Given the description of an element on the screen output the (x, y) to click on. 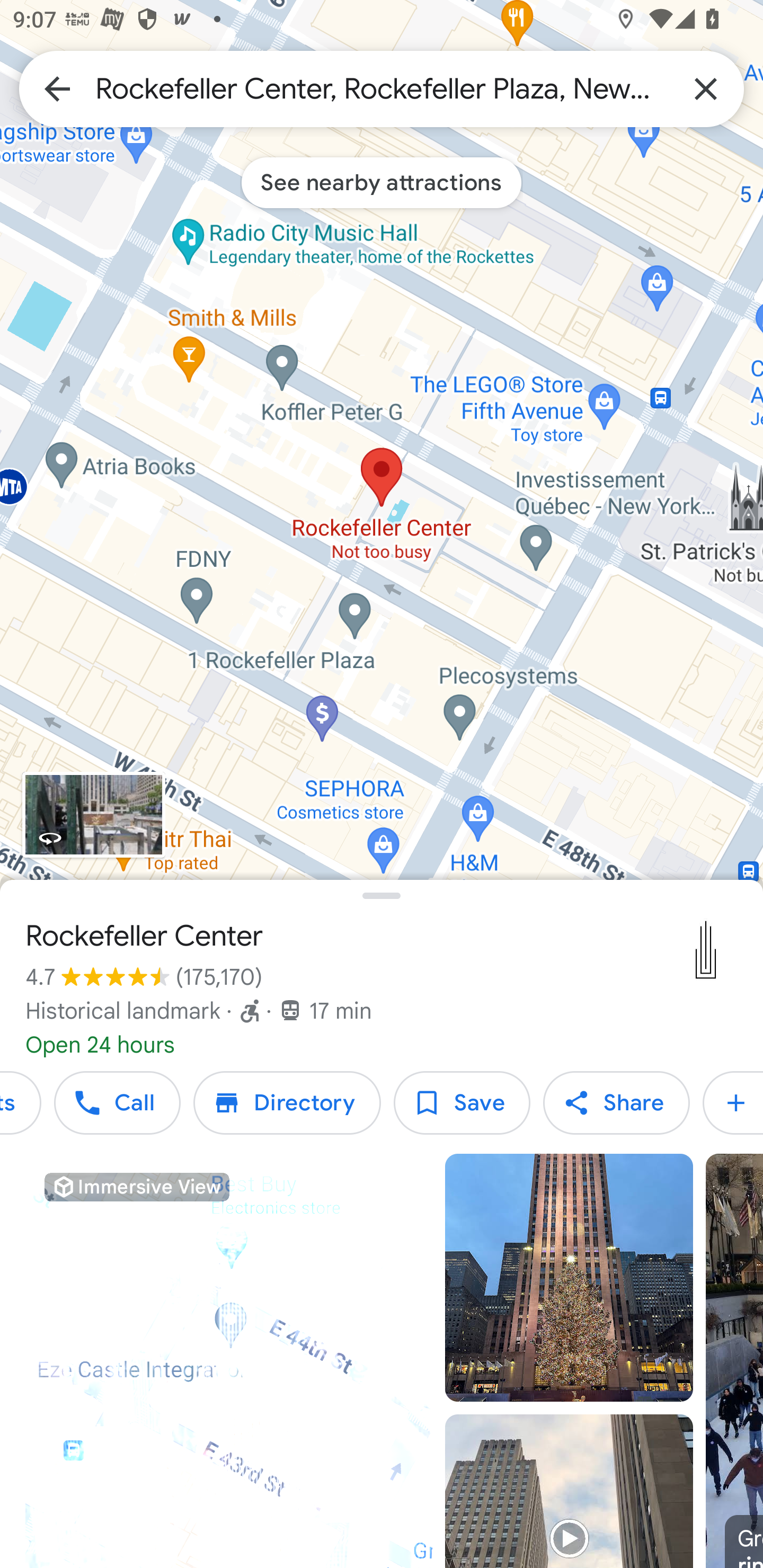
Back (57, 88)
Clear (705, 88)
See nearby attractions (381, 182)
View Street view imagery for Rockefeller Center (93, 814)
Directory Directory Directory (286, 1102)
Post Post Post (732, 1102)
Video Immersive View (228, 1361)
Photo (568, 1277)
Video (568, 1491)
